Given the description of an element on the screen output the (x, y) to click on. 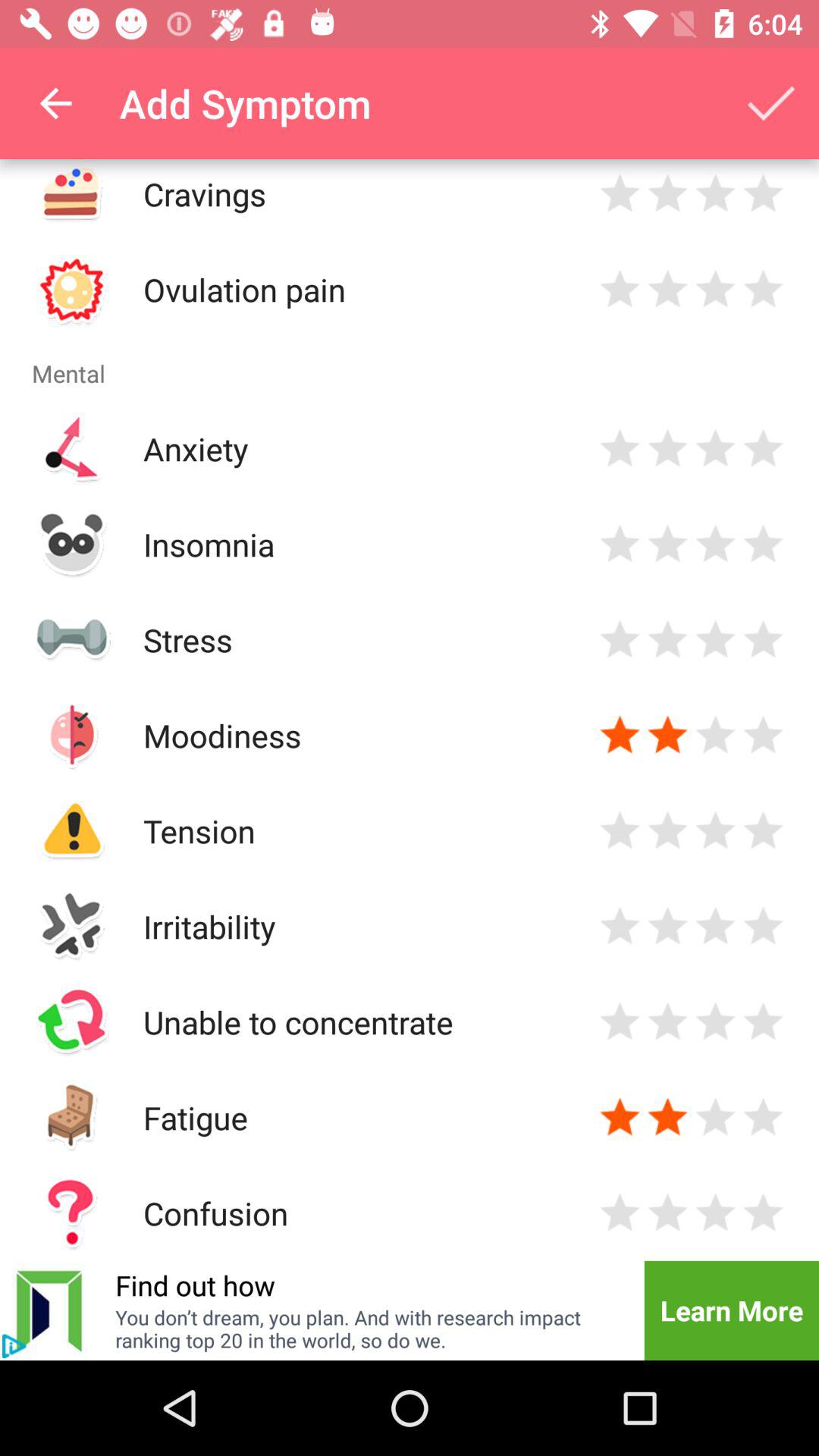
evaluation (763, 544)
